Given the description of an element on the screen output the (x, y) to click on. 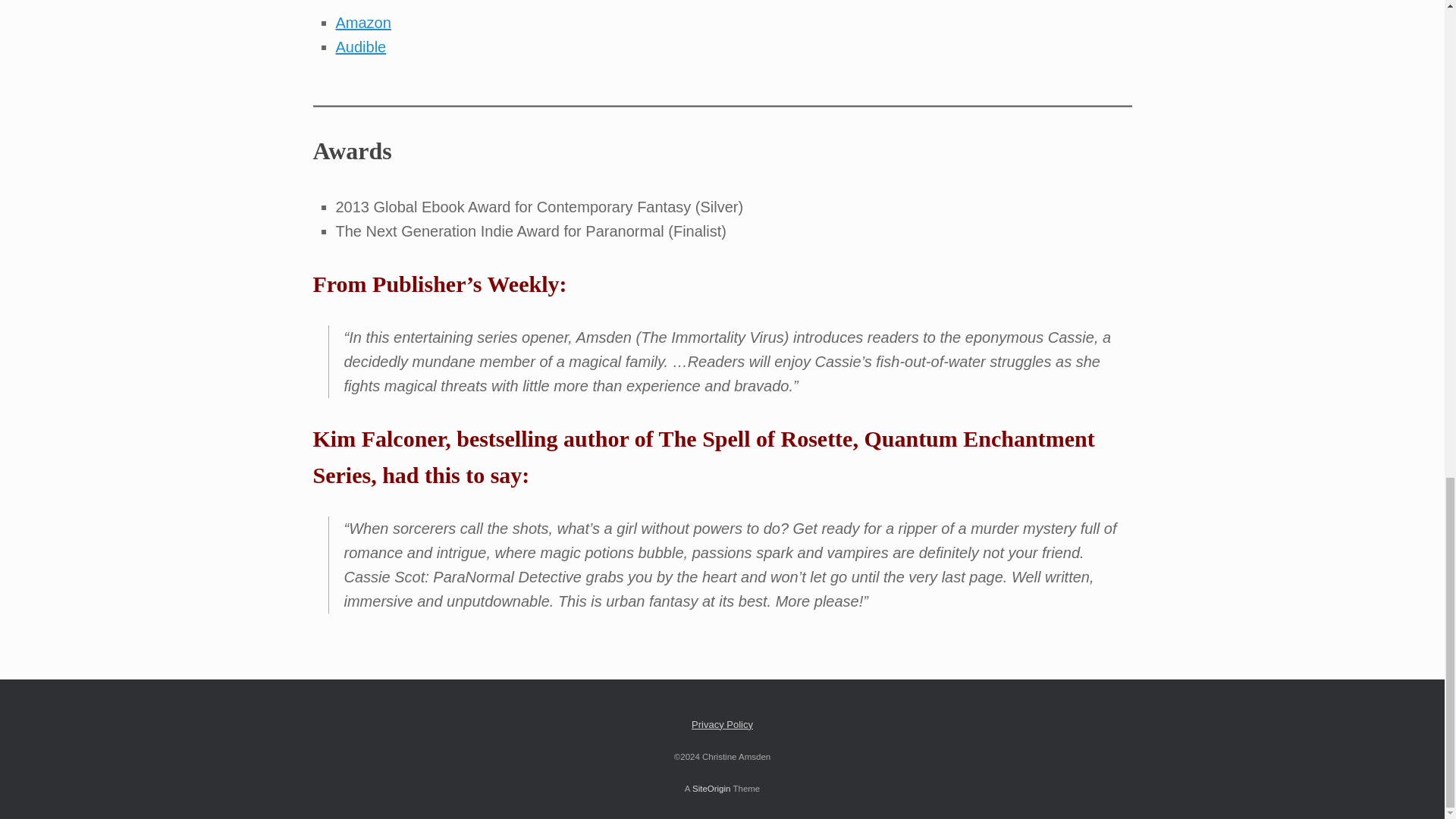
Amazon (362, 22)
Audible (359, 46)
Privacy Policy (721, 724)
SiteOrigin (711, 788)
